Given the description of an element on the screen output the (x, y) to click on. 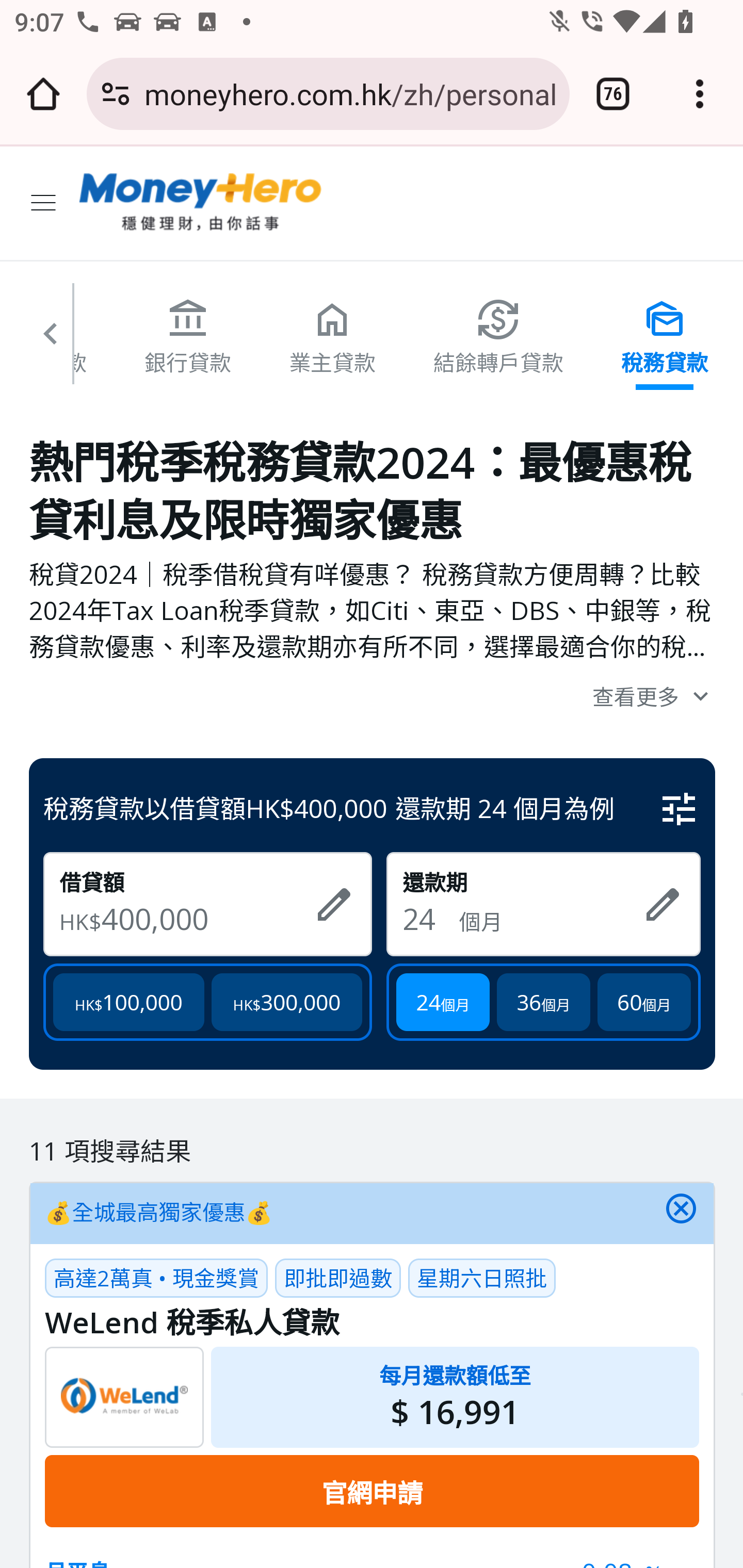
Open the home page (43, 93)
Connection is secure (115, 93)
Switch or close tabs (612, 93)
Customize and control Google Chrome (699, 93)
MH_Logo_ZH_2021-1 (201, 203)
business 財務公司貸款 (44, 336)
account_balance 銀行貸款 (187, 336)
home 業主貸款 (333, 336)
currency_exchange 結餘轉戶貸款 (498, 336)
mark_as_unread 稅務貸款 (665, 336)
查看更多 expand_more 查看更多 expand_more (372, 695)
tune (679, 808)
400,000 (200, 917)
24 (430, 917)
cancel (681, 1214)
官網申請 (371, 1490)
